Given the description of an element on the screen output the (x, y) to click on. 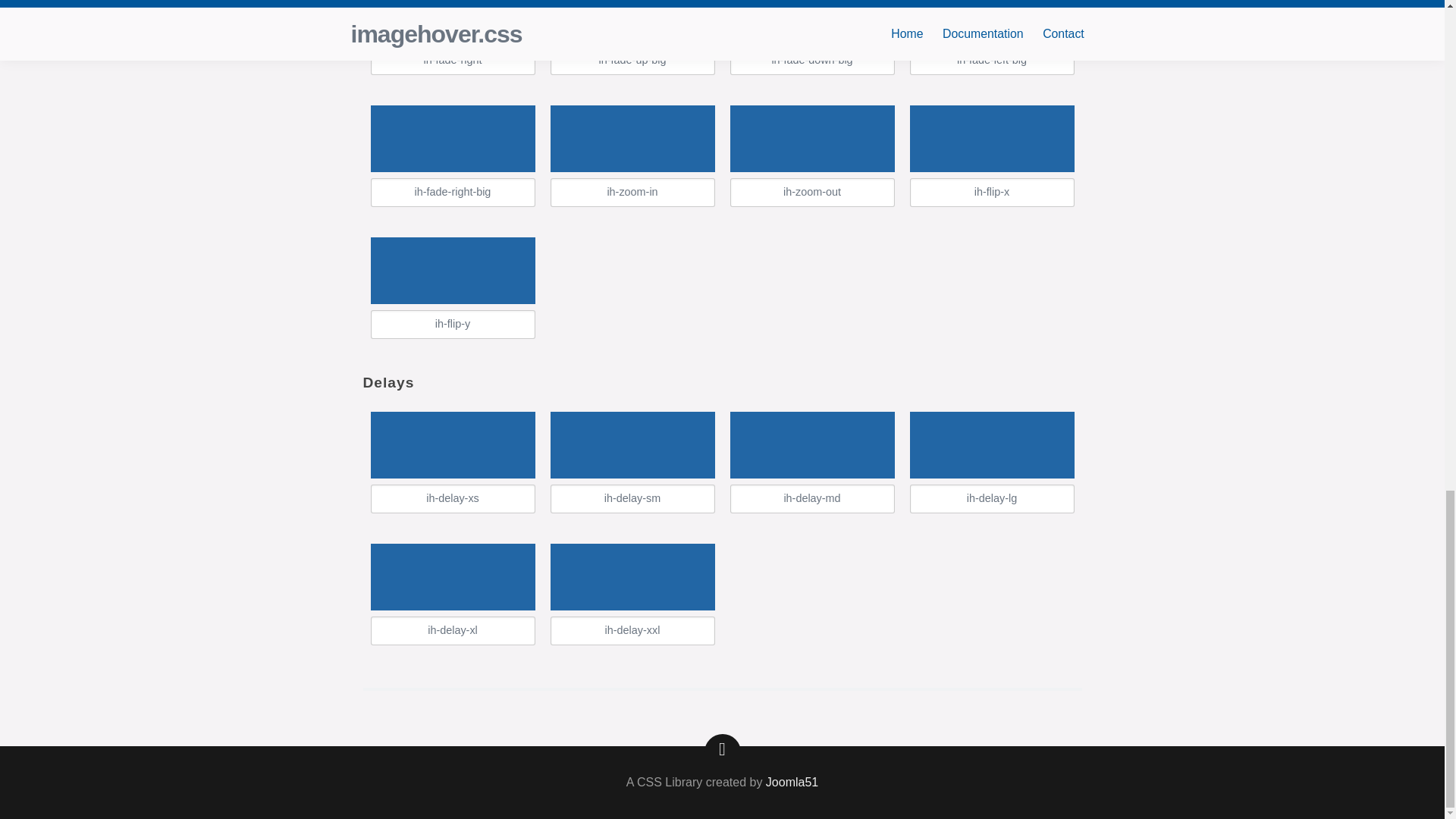
Joomla51 (791, 782)
